Given the description of an element on the screen output the (x, y) to click on. 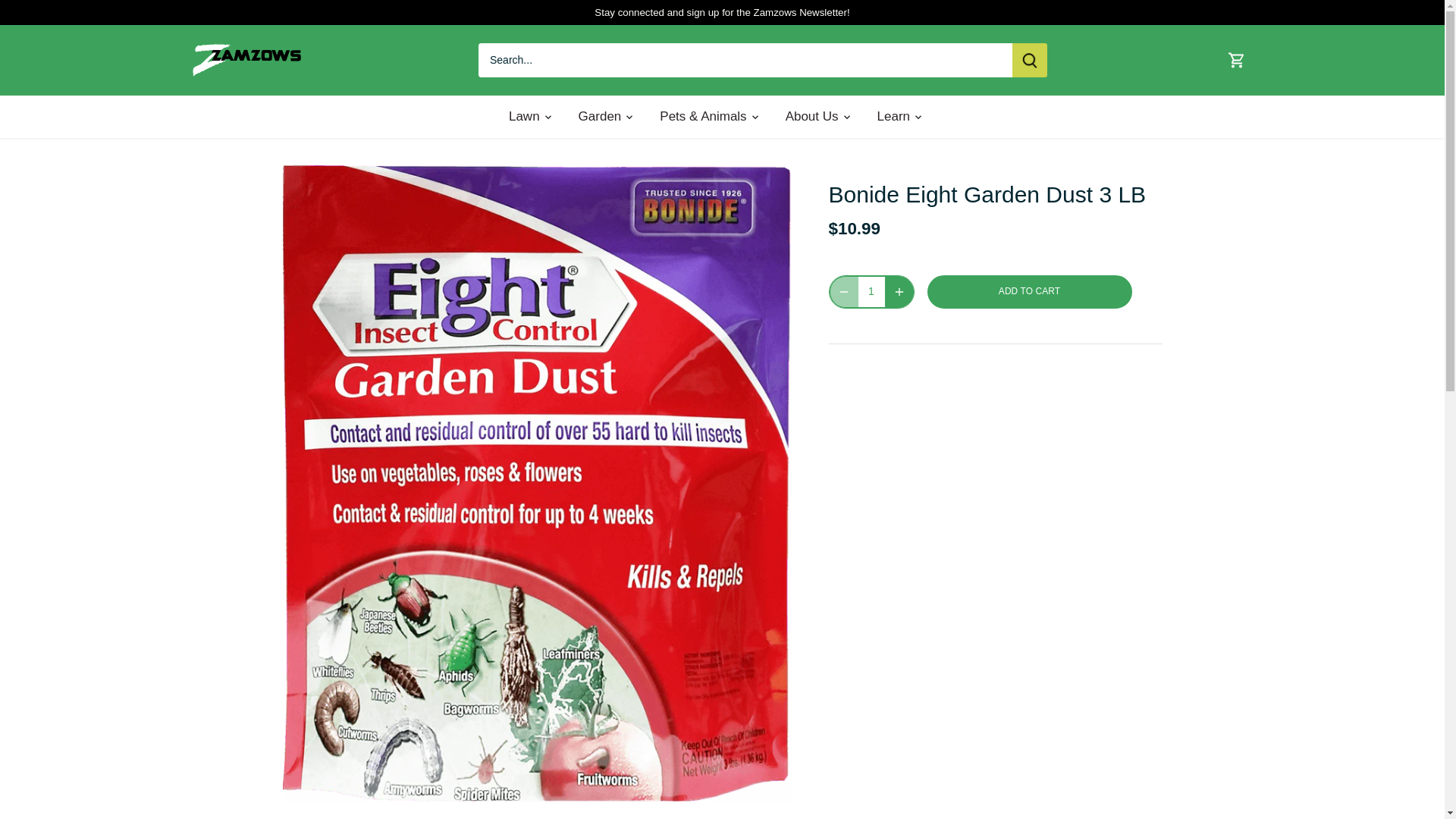
Garden (600, 116)
Lawn (530, 116)
Stay connected and sign up for the Zamzows Newsletter! (721, 12)
